Given the description of an element on the screen output the (x, y) to click on. 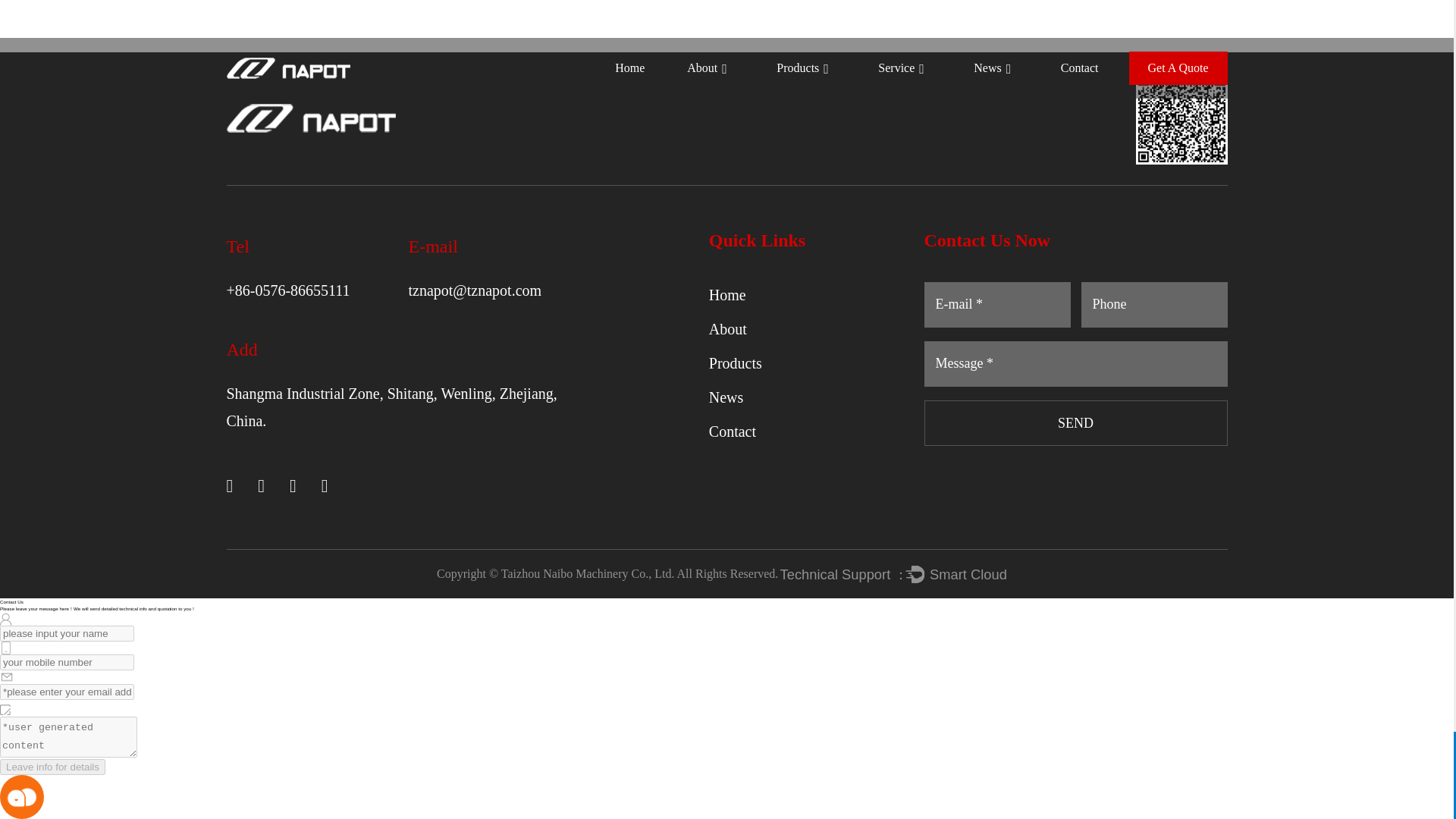
SEND (1075, 422)
